Given the description of an element on the screen output the (x, y) to click on. 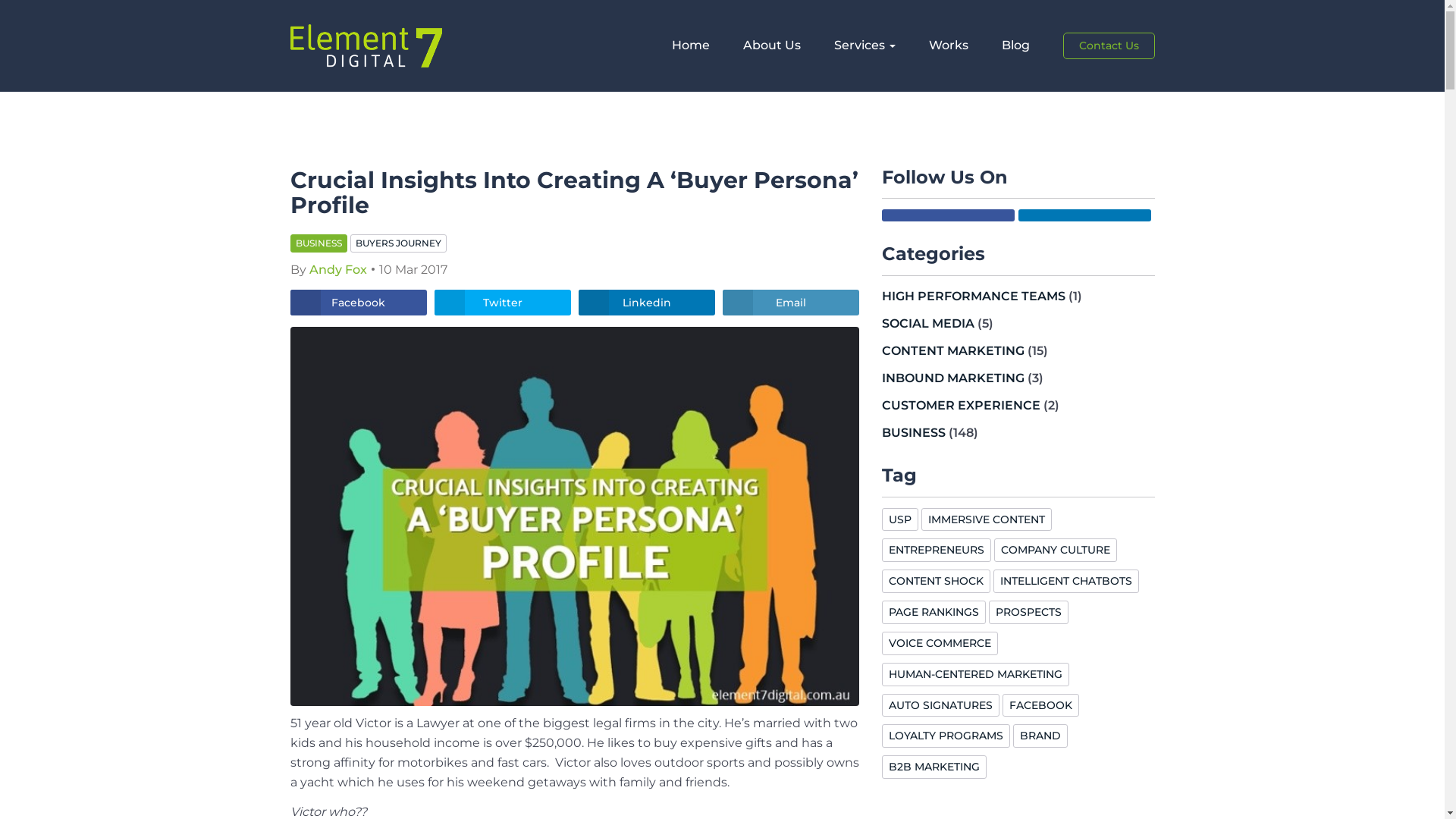
USP Element type: text (899, 519)
Facebook Element type: text (357, 302)
CONTENT SHOCK Element type: text (935, 581)
HIGH PERFORMANCE TEAMS Element type: text (972, 295)
Blog Element type: text (1014, 45)
Linkedin Element type: text (645, 302)
BUYERS JOURNEY Element type: text (398, 243)
BUSINESS Element type: text (317, 243)
Home Element type: text (690, 45)
IMMERSIVE CONTENT Element type: text (985, 519)
CONTENT MARKETING Element type: text (952, 350)
BUSINESS Element type: text (912, 432)
About Us Element type: text (771, 45)
COMPANY CULTURE Element type: text (1054, 549)
VOICE COMMERCE Element type: text (939, 643)
ENTREPRENEURS Element type: text (935, 549)
SOCIAL MEDIA Element type: text (927, 323)
CUSTOMER EXPERIENCE Element type: text (960, 405)
INTELLIGENT CHATBOTS Element type: text (1066, 581)
INBOUND MARKETING Element type: text (952, 377)
HUMAN-CENTERED MARKETING Element type: text (974, 674)
PAGE RANKINGS Element type: text (933, 612)
Email Element type: text (789, 302)
B2B MARKETING Element type: text (933, 766)
PROSPECTS Element type: text (1028, 612)
Twitter Element type: text (501, 302)
FACEBOOK Element type: text (1040, 705)
Works Element type: text (947, 45)
Services Element type: text (864, 45)
Facebook Element 7 Digital Element type: hover (947, 215)
BRAND Element type: text (1040, 735)
AUTO SIGNATURES Element type: text (939, 705)
LOYALTY PROGRAMS Element type: text (945, 735)
Contact Us Element type: text (1108, 45)
Element 7 Digital Element type: hover (365, 45)
Linkedin for Element 7 Digital Element type: hover (1083, 215)
